Given the description of an element on the screen output the (x, y) to click on. 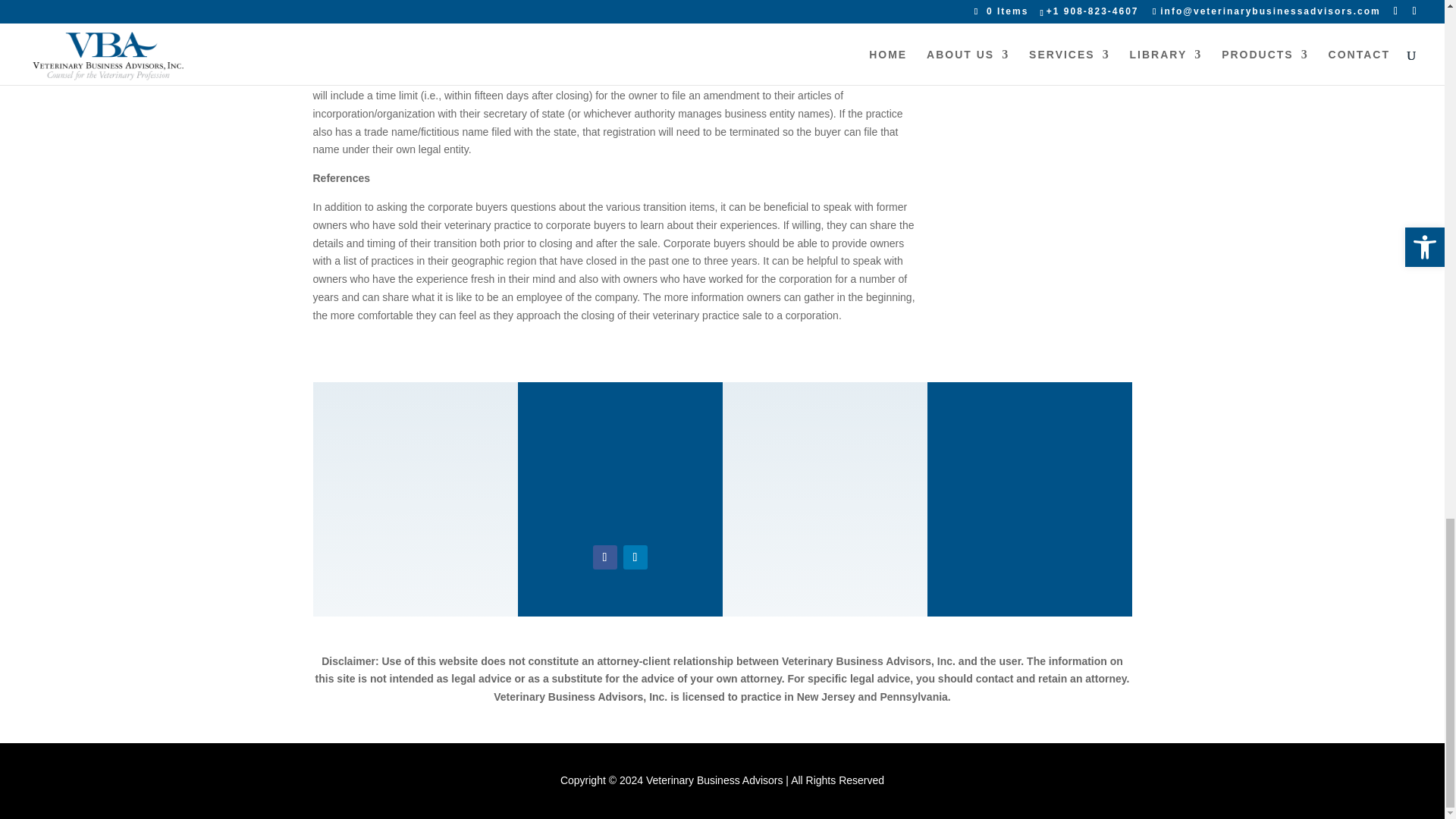
Follow on Facebook (604, 557)
Follow on LinkedIn (635, 557)
